Given the description of an element on the screen output the (x, y) to click on. 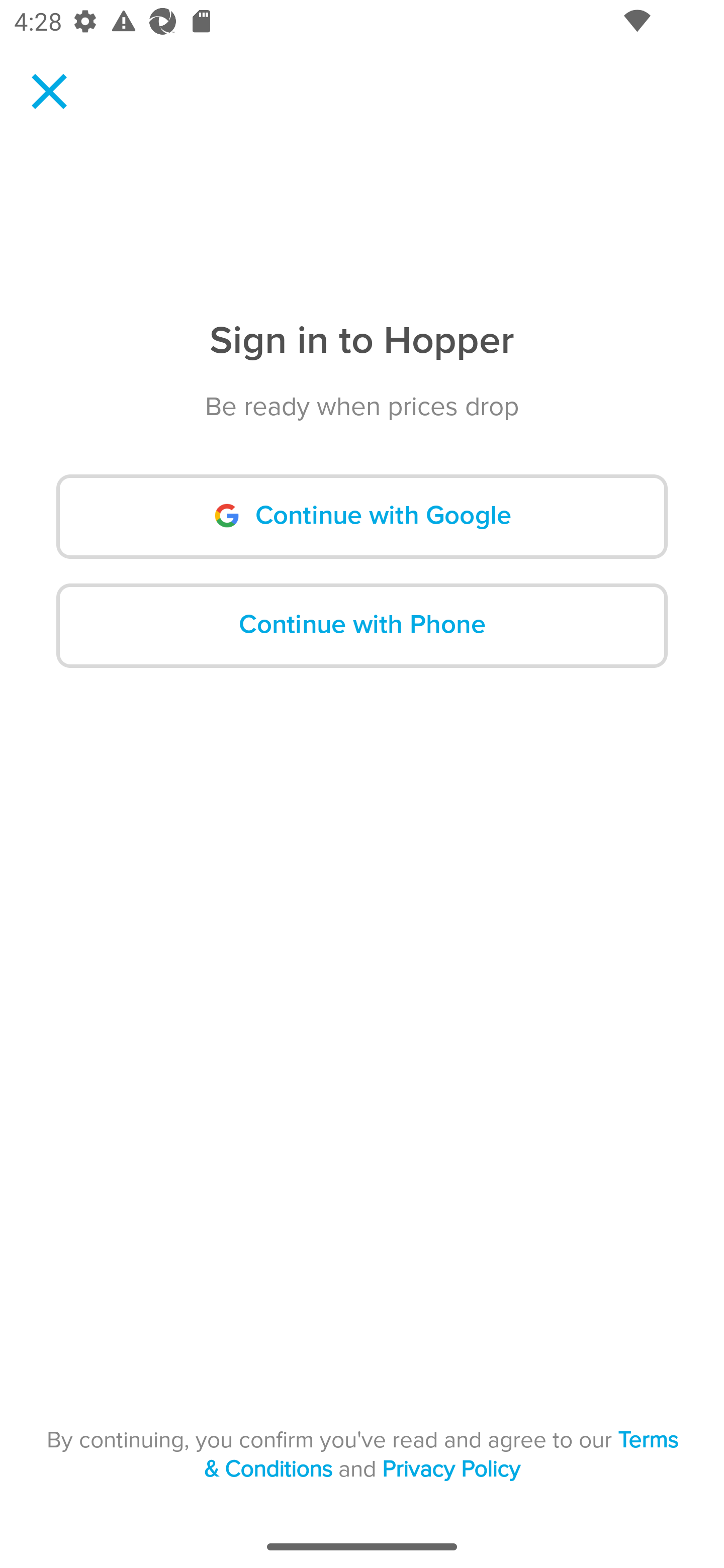
Navigate up (49, 91)
‍ Continue with Google (361, 516)
‍Continue with Phone (361, 625)
